Given the description of an element on the screen output the (x, y) to click on. 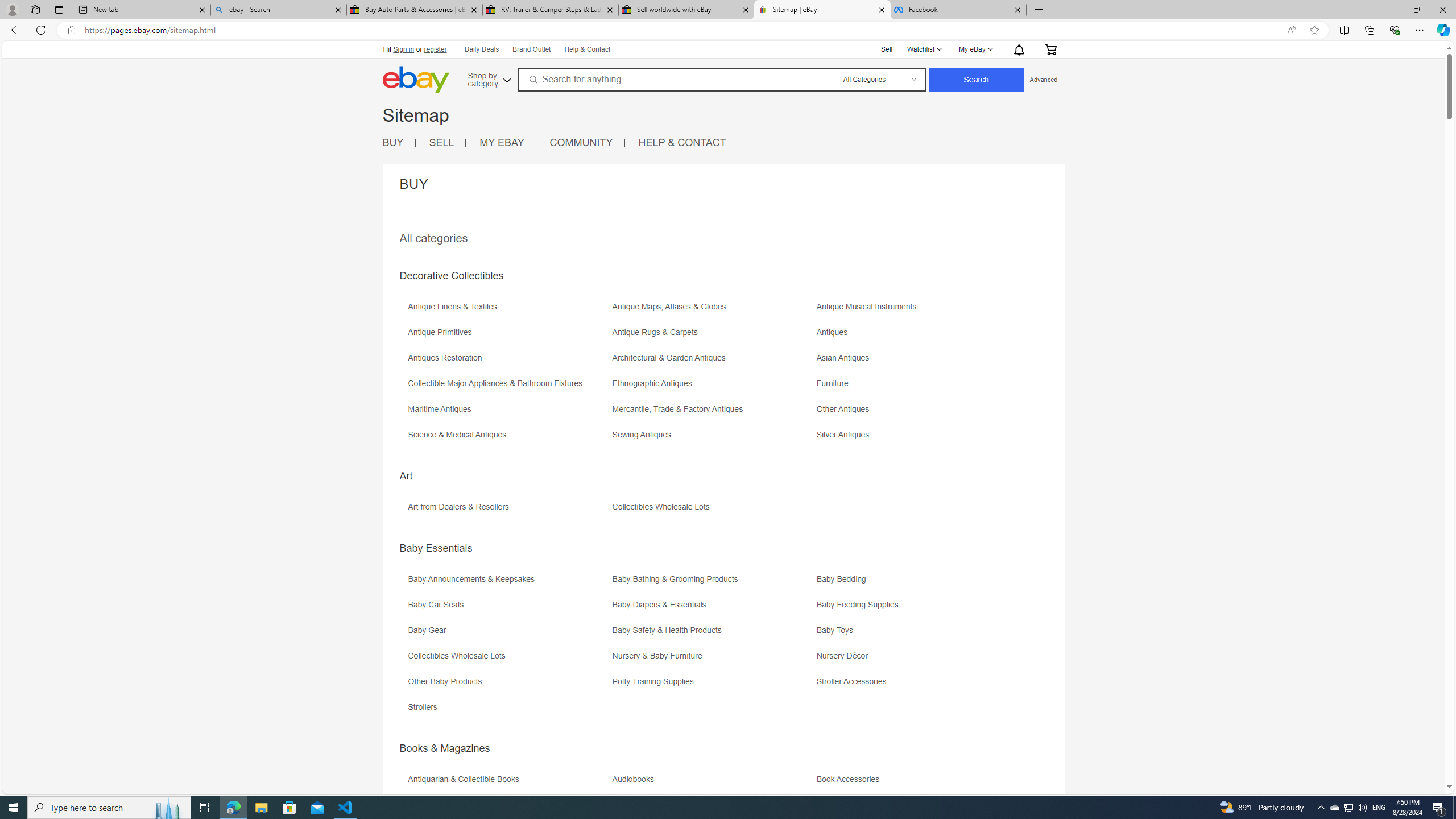
Back (13, 29)
Search (976, 79)
Decorative Collectibles (450, 275)
Baby Gear (508, 634)
Stroller Accessories (917, 685)
Architectural & Garden Antiques (670, 357)
Settings and more (Alt+F) (1419, 29)
SELL (441, 142)
Baby Car Seats (438, 604)
WatchlistExpand Watch List (923, 49)
Architectural & Garden Antiques (712, 361)
Nursery & Baby Furniture (659, 655)
Maritime Antiques (508, 412)
Antiquarian & Collectible Books (466, 779)
Strollers (424, 707)
